Given the description of an element on the screen output the (x, y) to click on. 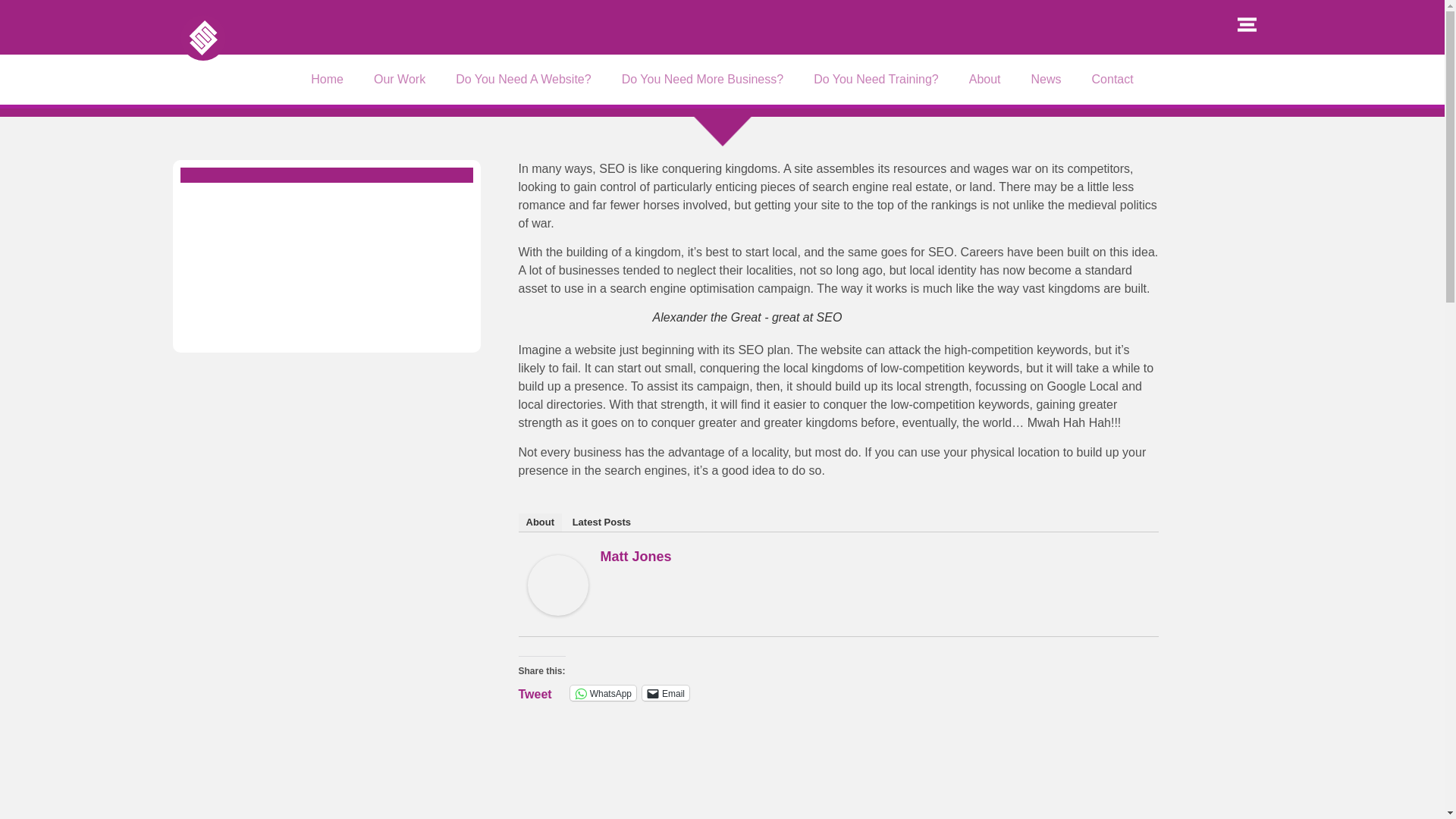
Home (326, 79)
Do You Need A Website? (524, 79)
Click to share on WhatsApp (603, 693)
Click to email a link to a friend (665, 693)
Our Work (399, 79)
How to build up an SEO kingdom 1 (557, 585)
Do You Need More Business? (702, 79)
Matt Jones (557, 611)
